Given the description of an element on the screen output the (x, y) to click on. 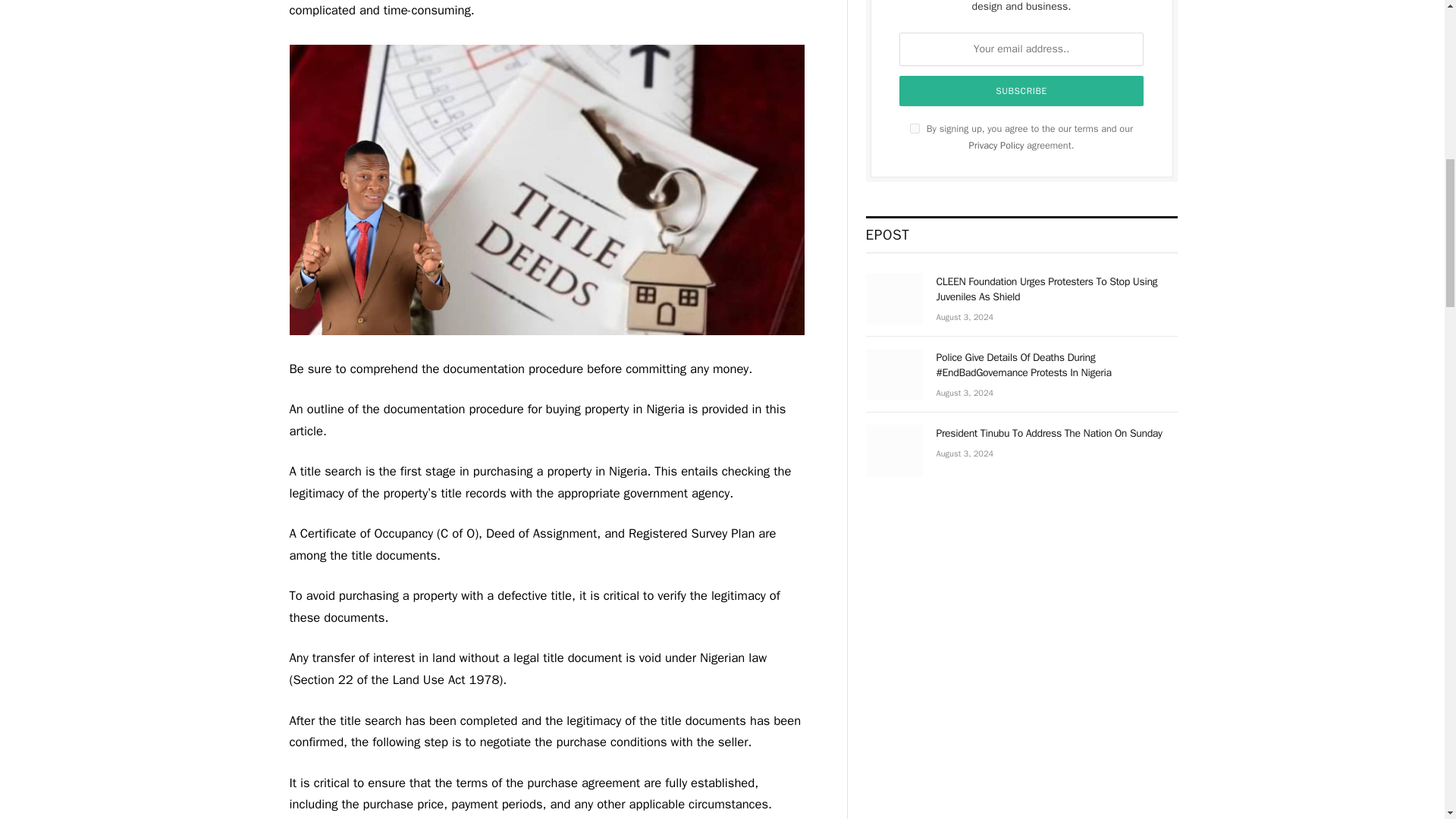
Subscribe (1020, 91)
on (915, 128)
